Given the description of an element on the screen output the (x, y) to click on. 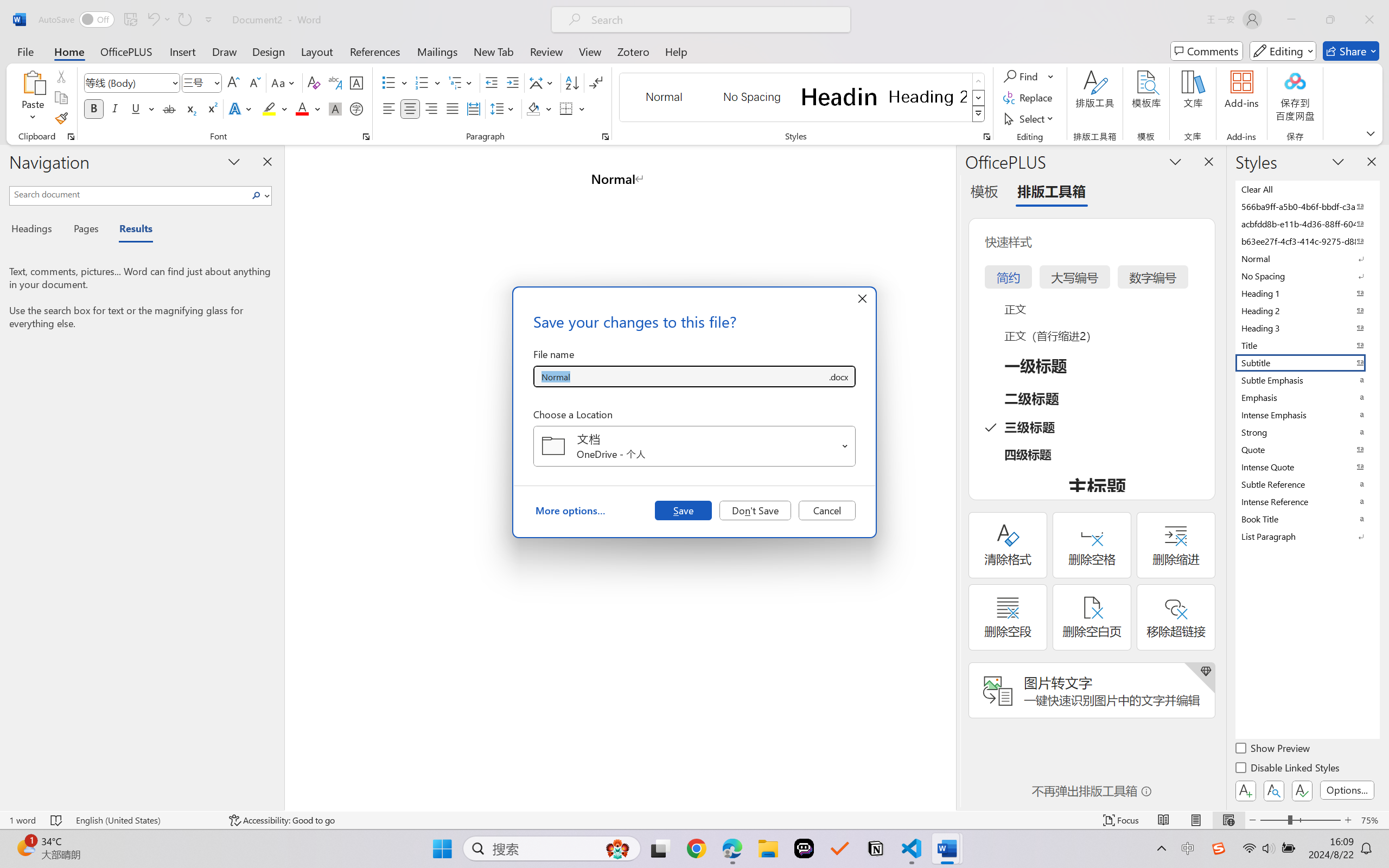
No Spacing (1306, 275)
Heading 1 (839, 96)
Character Border (356, 82)
Styles (978, 113)
Pages (85, 229)
File Tab (24, 51)
Numbering (421, 82)
Zotero (632, 51)
Options... (1346, 789)
Class: NetUIImage (978, 114)
